Given the description of an element on the screen output the (x, y) to click on. 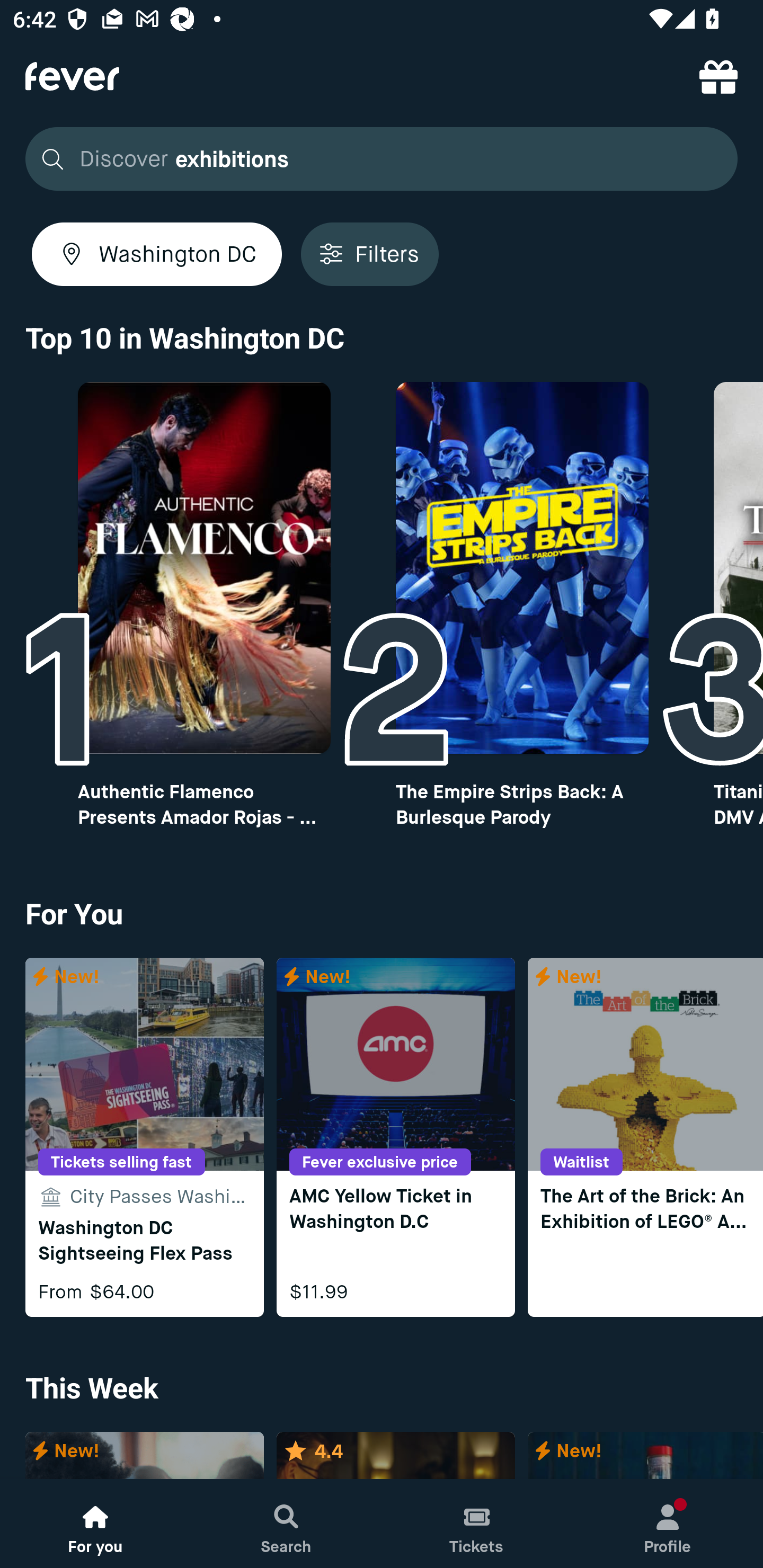
referral (718, 75)
Discover exhibitions (381, 158)
Discover exhibitions (376, 158)
Washington DC (156, 253)
Filters (369, 253)
Top10 image (203, 568)
Top10 image (521, 568)
Search (285, 1523)
Tickets (476, 1523)
Profile, New notification Profile (667, 1523)
